Given the description of an element on the screen output the (x, y) to click on. 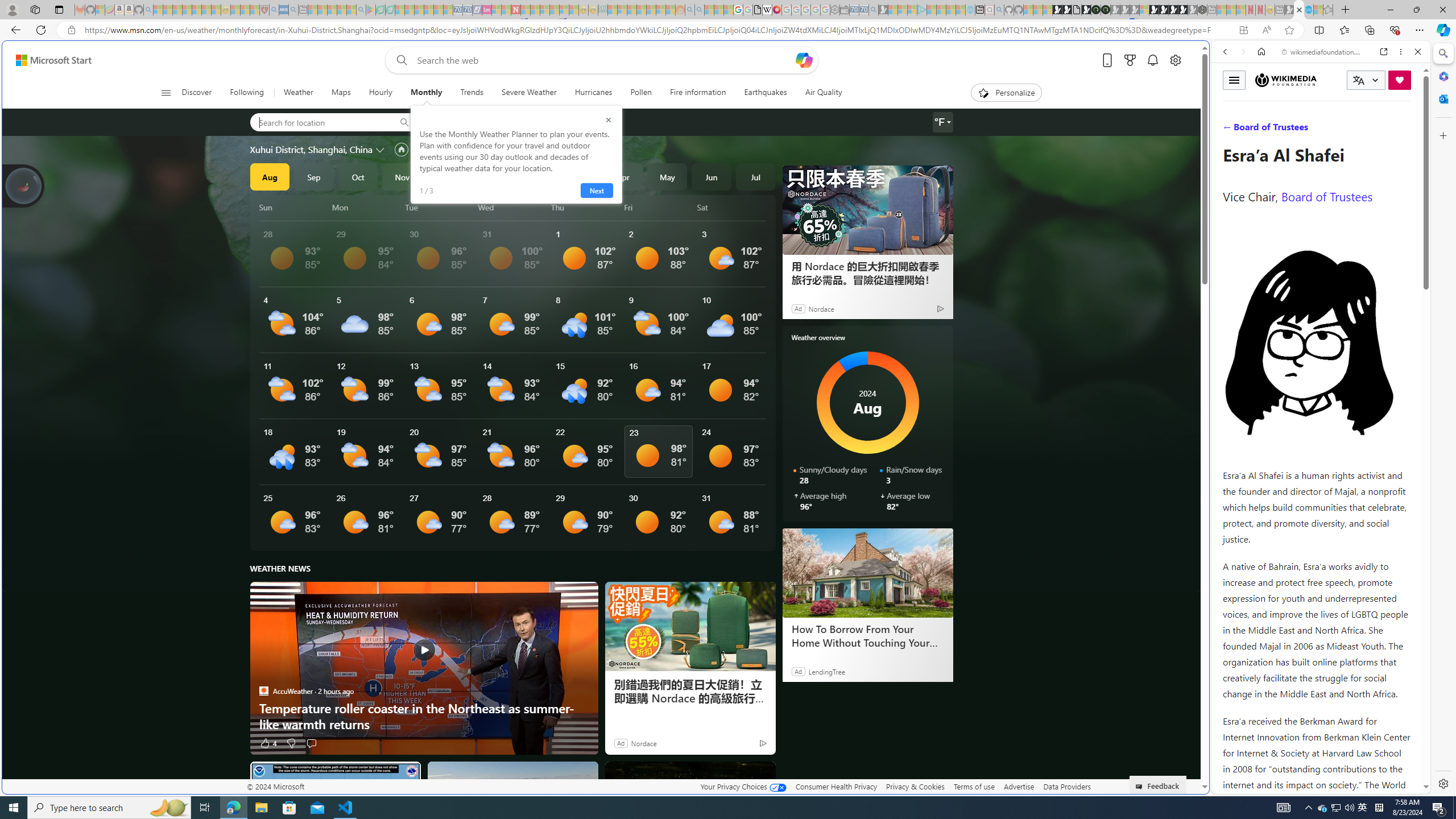
Apr (622, 176)
Maps (340, 92)
Home | Sky Blue Bikes - Sky Blue Bikes (1118, 242)
Tue (439, 207)
Play Cave FRVR in your browser | Games from Microsoft Start (922, 242)
